Given the description of an element on the screen output the (x, y) to click on. 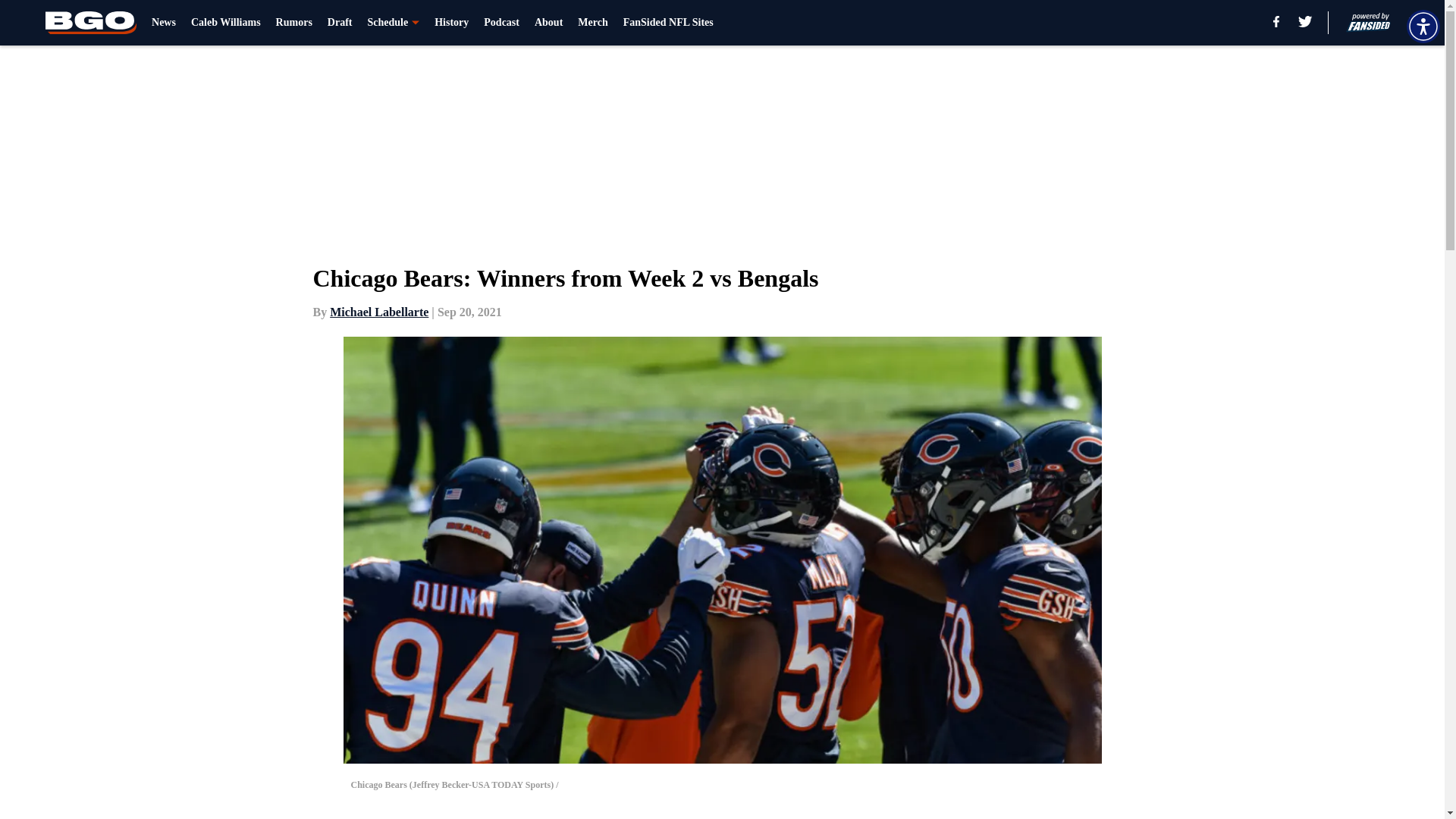
News (163, 22)
Accessibility Menu (1422, 26)
Podcast (501, 22)
About (548, 22)
Draft (339, 22)
History (450, 22)
Rumors (294, 22)
Caleb Williams (225, 22)
Merch (592, 22)
Michael Labellarte (379, 311)
